Given the description of an element on the screen output the (x, y) to click on. 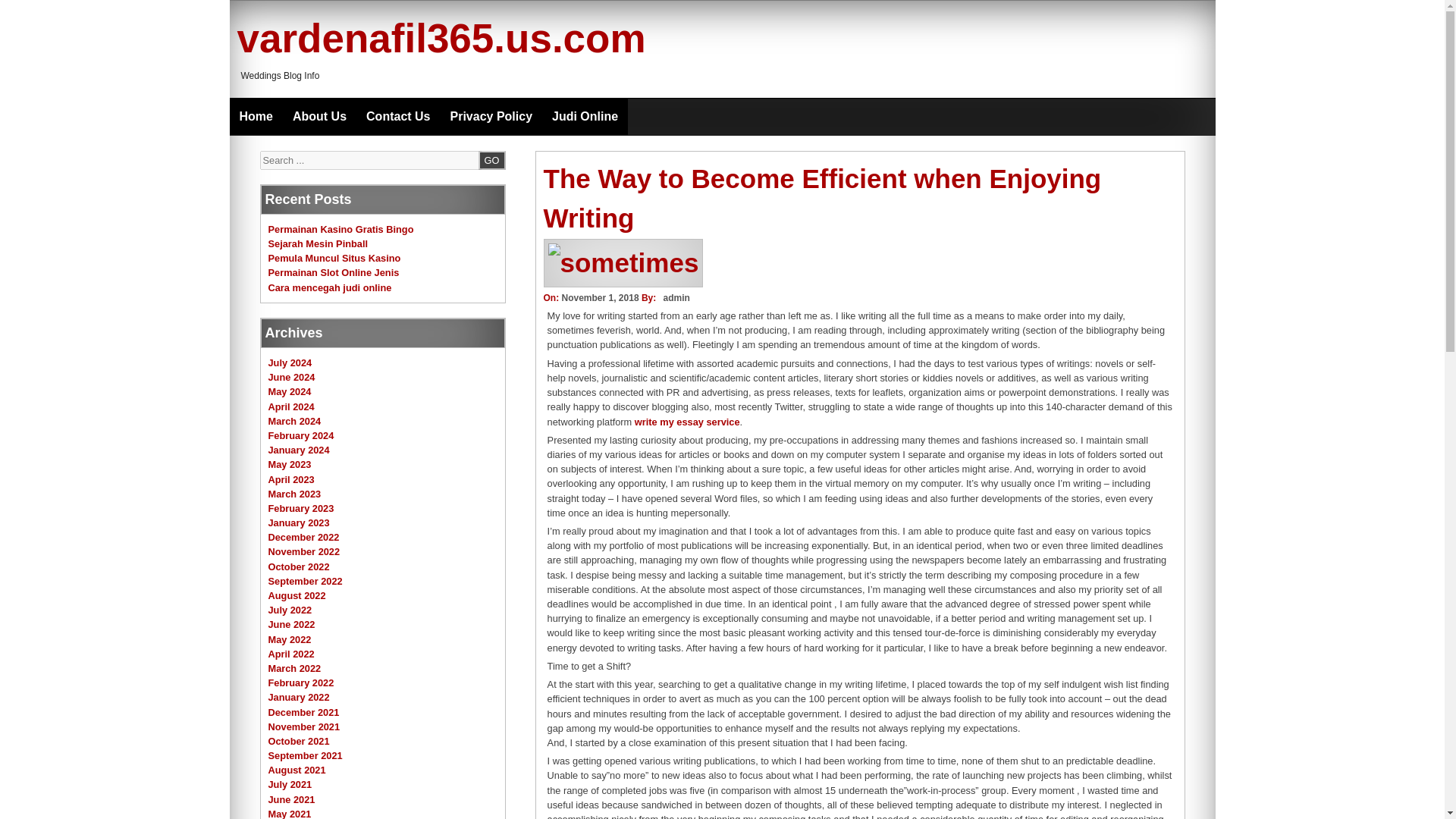
write my essay service (686, 421)
GO (492, 158)
GO (492, 158)
Cara mencegah judi online (329, 287)
February 2024 (300, 435)
November 2022 (303, 551)
GO (492, 158)
Judi Online (584, 116)
Privacy Policy (492, 116)
March 2023 (294, 493)
April 2024 (290, 406)
February 2023 (300, 508)
July 2024 (290, 362)
Sejarah Mesin Pinball (317, 243)
November 1, 2018 (599, 297)
